Given the description of an element on the screen output the (x, y) to click on. 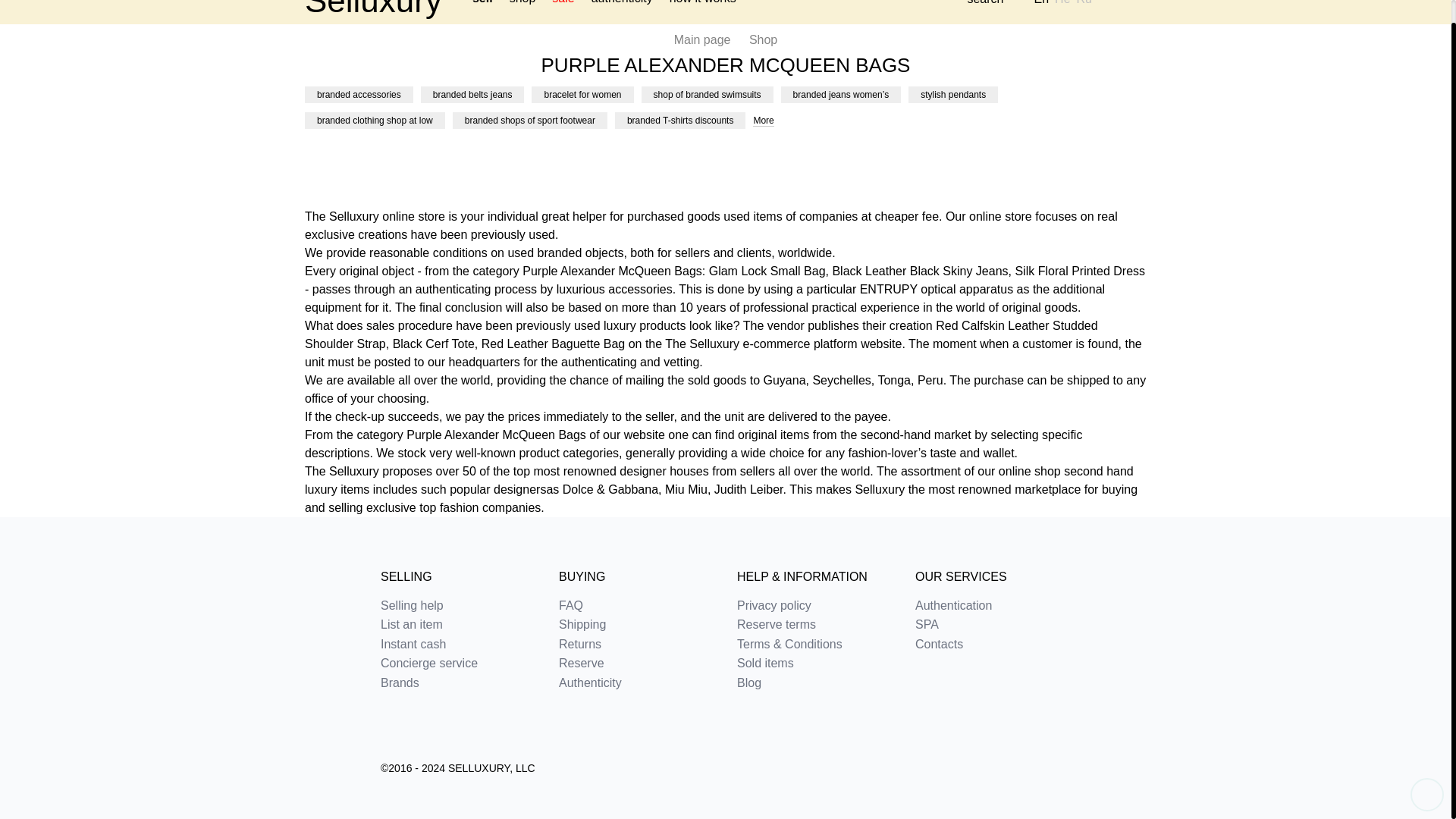
Selling help (457, 605)
Concierge service (457, 663)
sale (562, 4)
authenticity (621, 4)
Instant cash (457, 644)
bracelet for women (582, 94)
List an item (702, 4)
how it works (702, 4)
sell (482, 4)
selluxury (373, 6)
Brands (457, 683)
stylish pendants (952, 94)
FAQ (636, 605)
Selluxury (373, 6)
branded shops of sport footwear (529, 120)
